Given the description of an element on the screen output the (x, y) to click on. 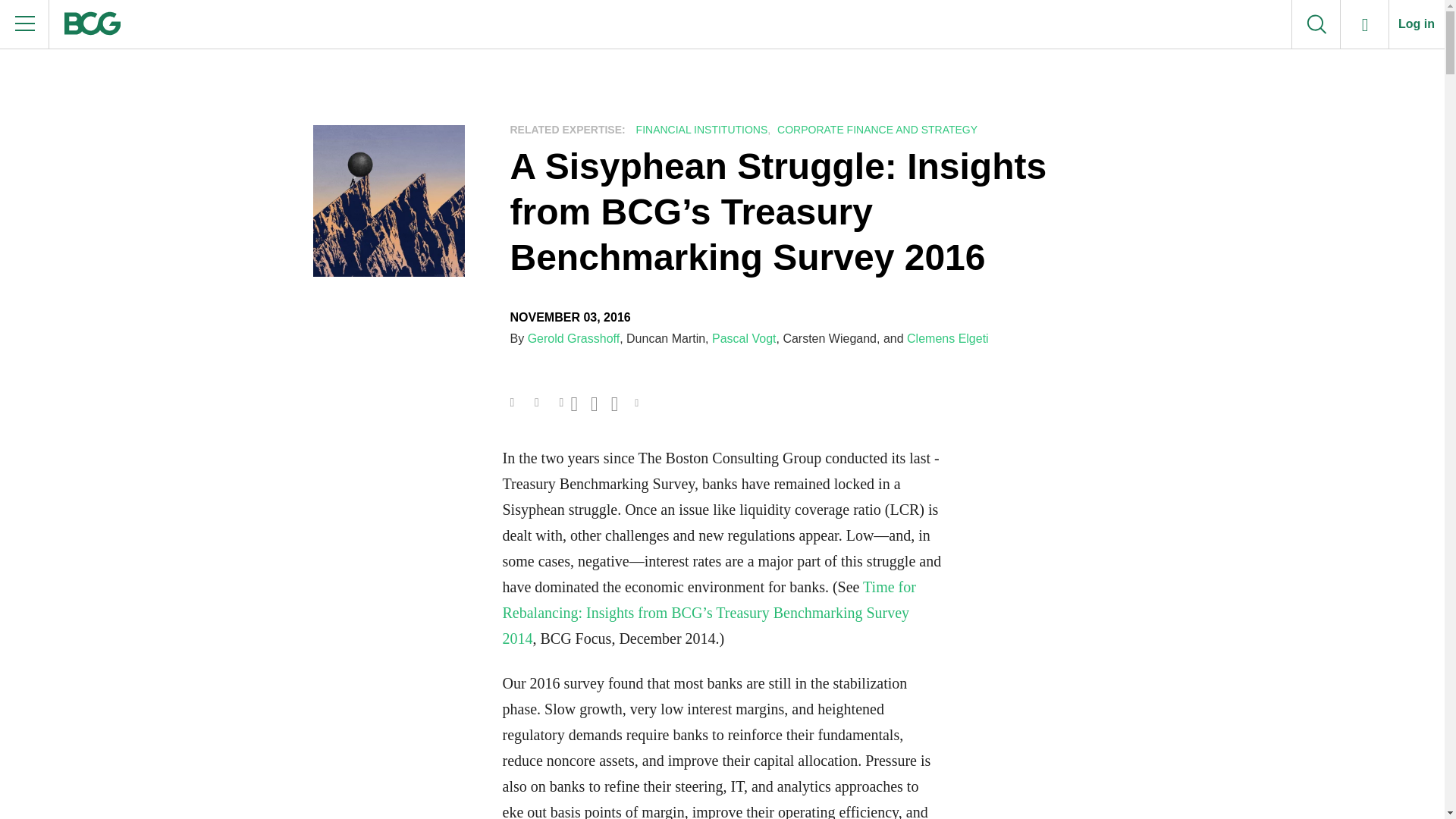
BCG-Sisyphean-Struggle-Nov-2016.pdf (539, 399)
Log in (1416, 24)
Gerold Grasshoff (573, 338)
Clemens Elgeti (947, 338)
CORPORATE FINANCE AND STRATEGY (874, 129)
Pascal Vogt (743, 338)
FINANCIAL INSTITUTIONS (699, 129)
